Given the description of an element on the screen output the (x, y) to click on. 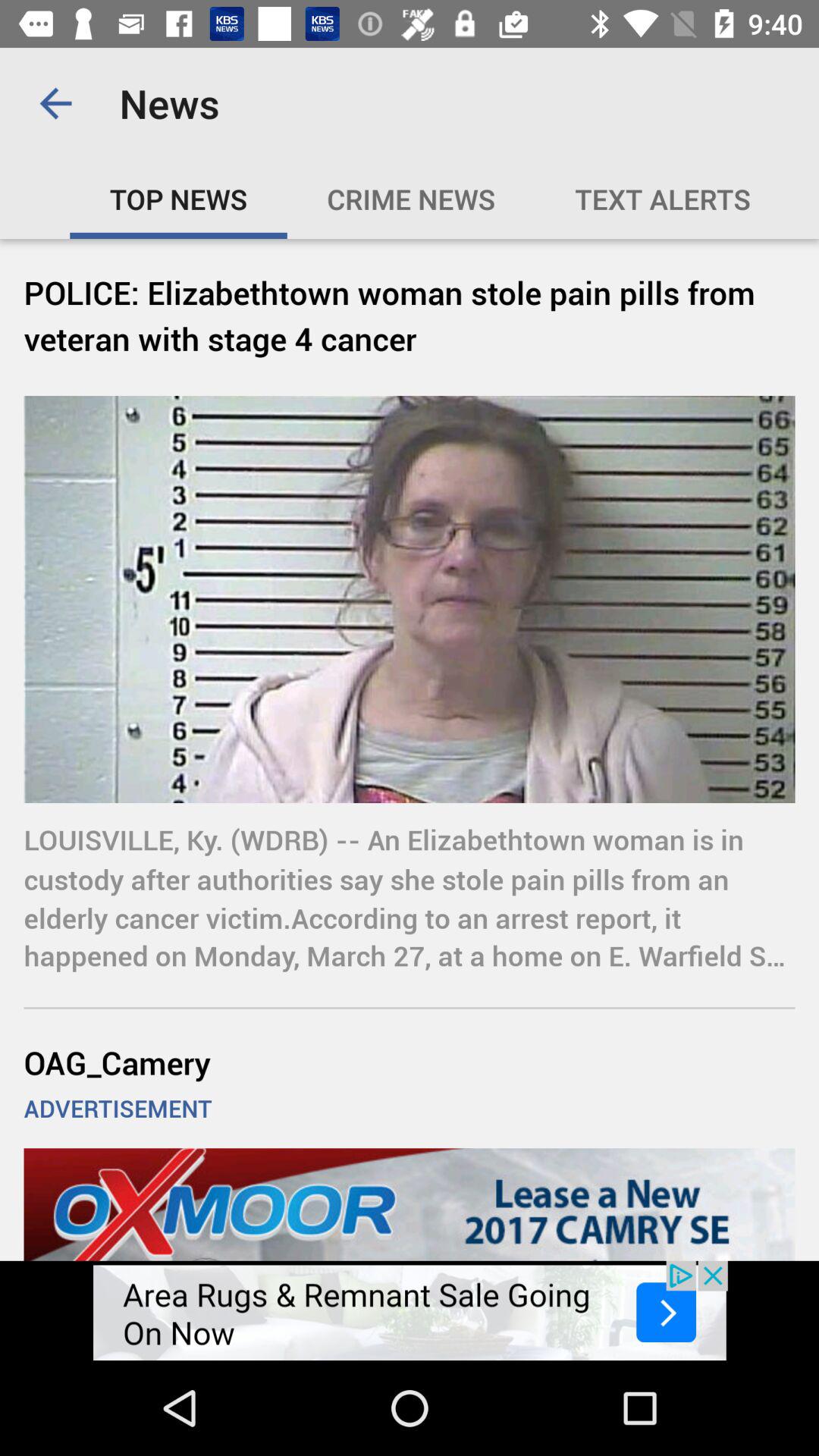
advertisement image (409, 1310)
